Given the description of an element on the screen output the (x, y) to click on. 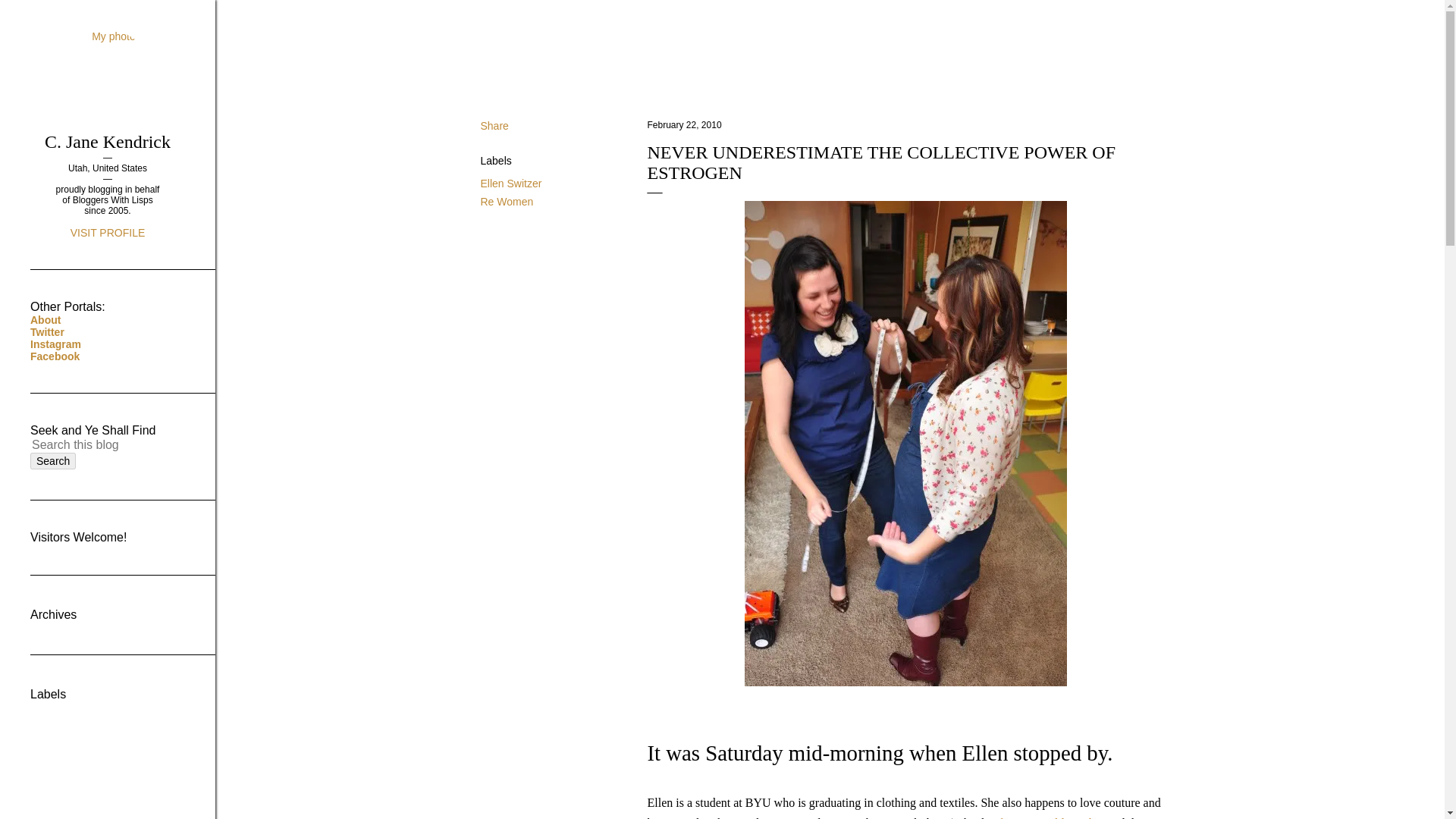
Facebook (55, 356)
Search (52, 460)
February 22, 2010 (684, 124)
permanent link (684, 124)
C. Jane Kendrick (107, 141)
About (45, 319)
Instagram (55, 344)
Search (52, 460)
Search (52, 460)
Share (494, 125)
fantastic gold number (1051, 817)
Ellen Switzer (510, 183)
VISIT PROFILE (107, 232)
Twitter (47, 331)
Re Women (507, 201)
